Given the description of an element on the screen output the (x, y) to click on. 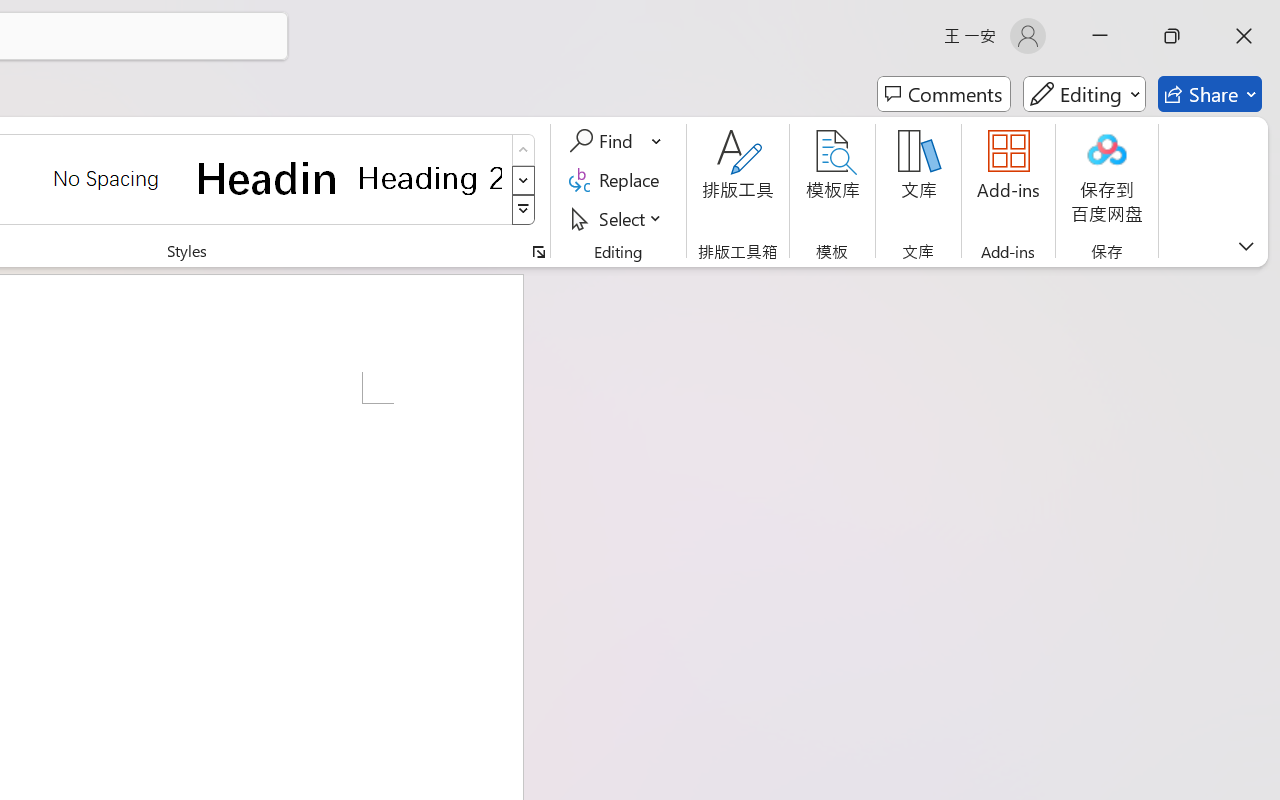
Select (618, 218)
Styles... (538, 252)
Styles (523, 209)
